Given the description of an element on the screen output the (x, y) to click on. 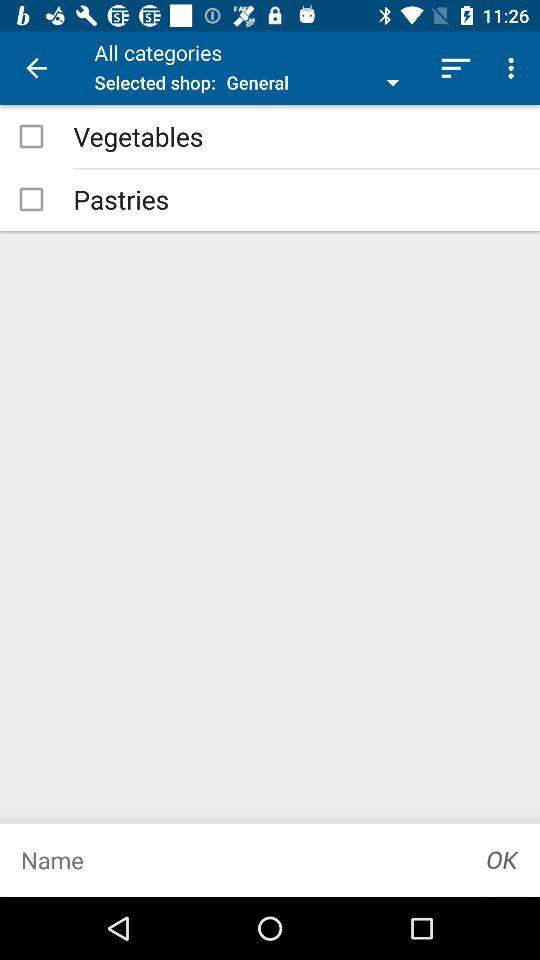
type name to search (233, 860)
